Given the description of an element on the screen output the (x, y) to click on. 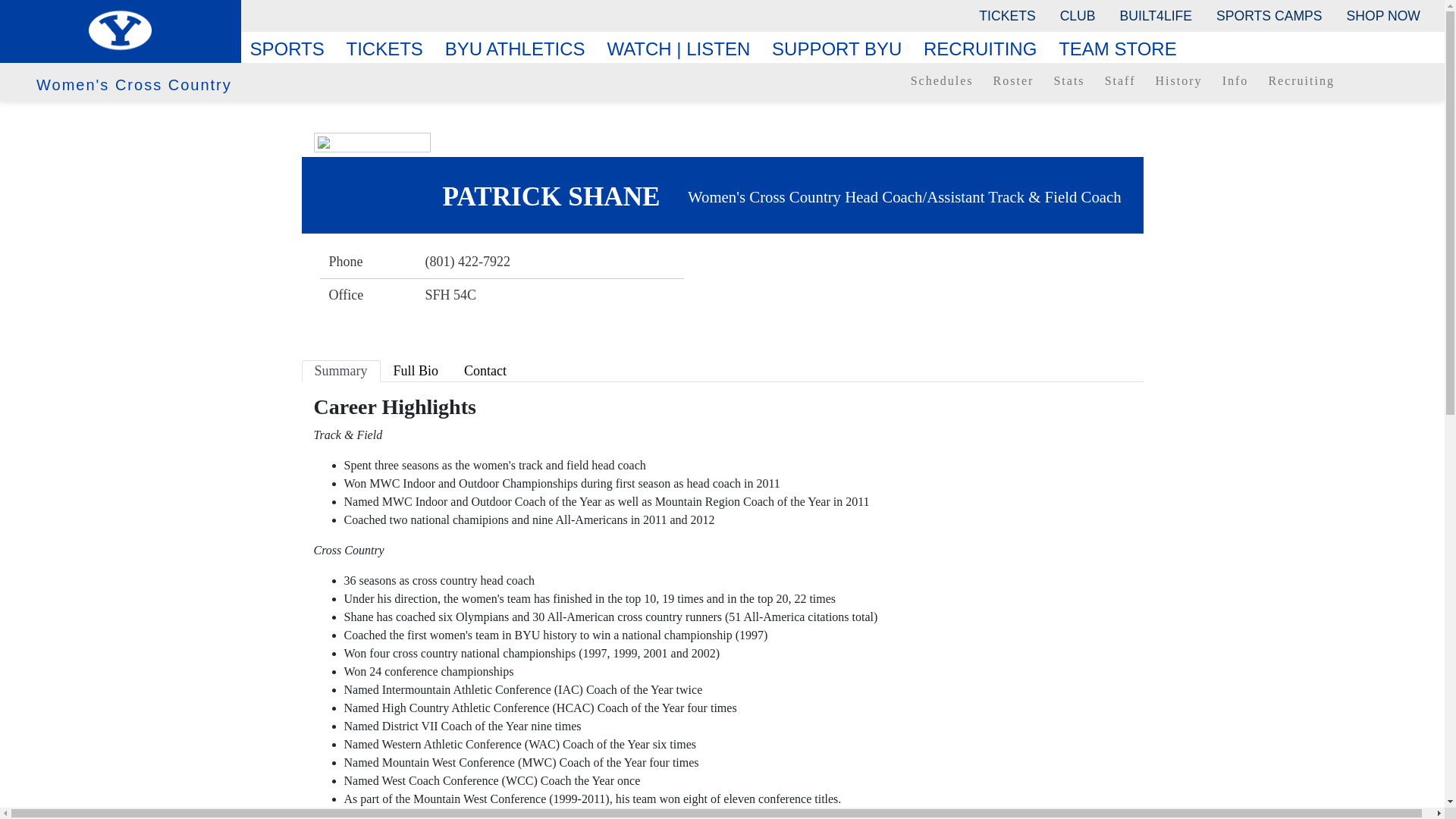
SHOP NOW (1383, 15)
SPORTS CAMPS (1268, 15)
BUILT4LIFE (1156, 15)
CLUB (1078, 15)
SPORTS (292, 49)
TICKETS (1006, 15)
